Given the description of an element on the screen output the (x, y) to click on. 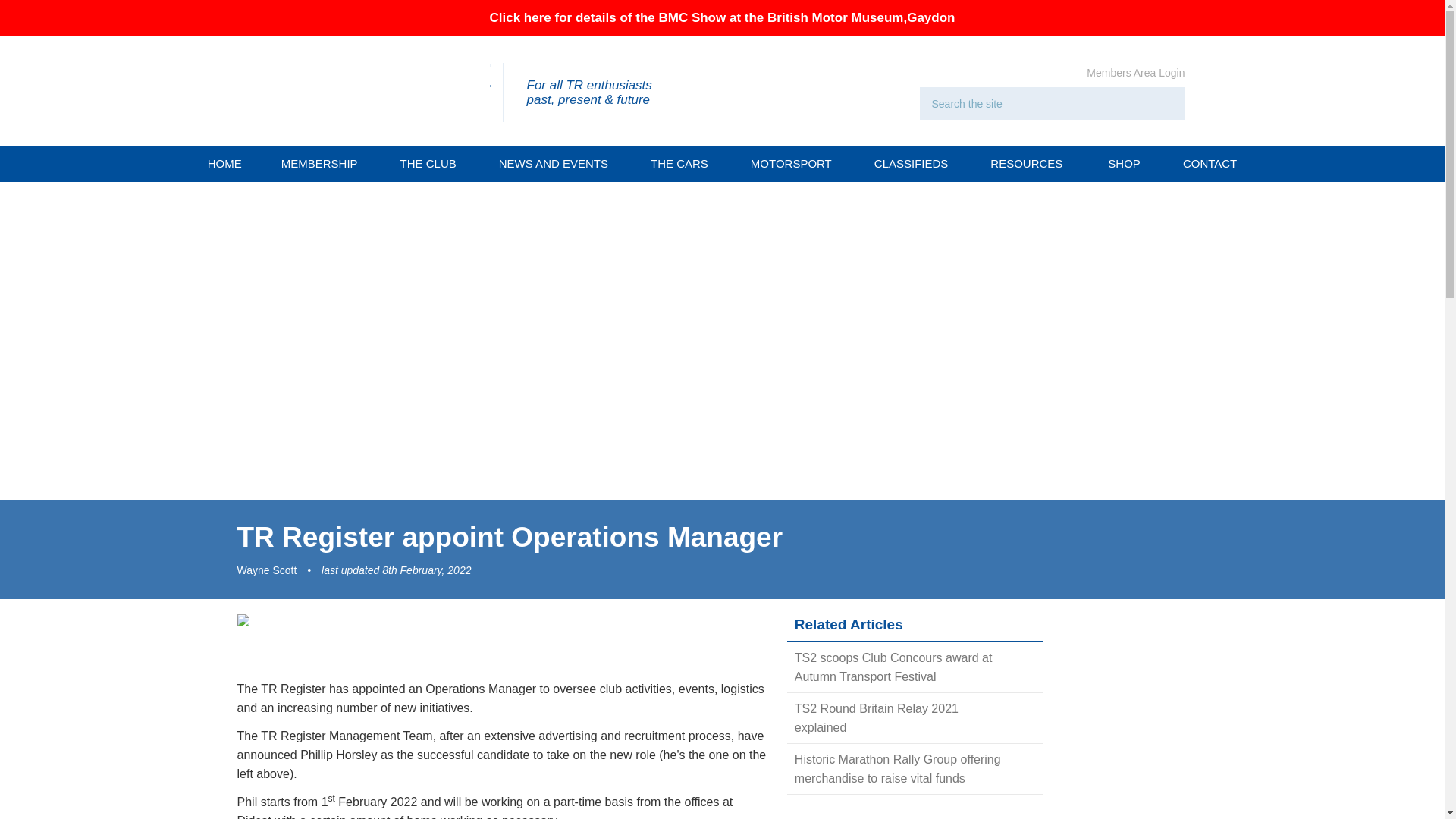
MEMBERSHIP (322, 163)
Members Area Login (1135, 72)
MOTORSPORT (794, 163)
TR Register (374, 90)
THE CLUB (430, 163)
NEWS AND EVENTS (555, 163)
HOME (224, 163)
THE CARS (681, 163)
